Given the description of an element on the screen output the (x, y) to click on. 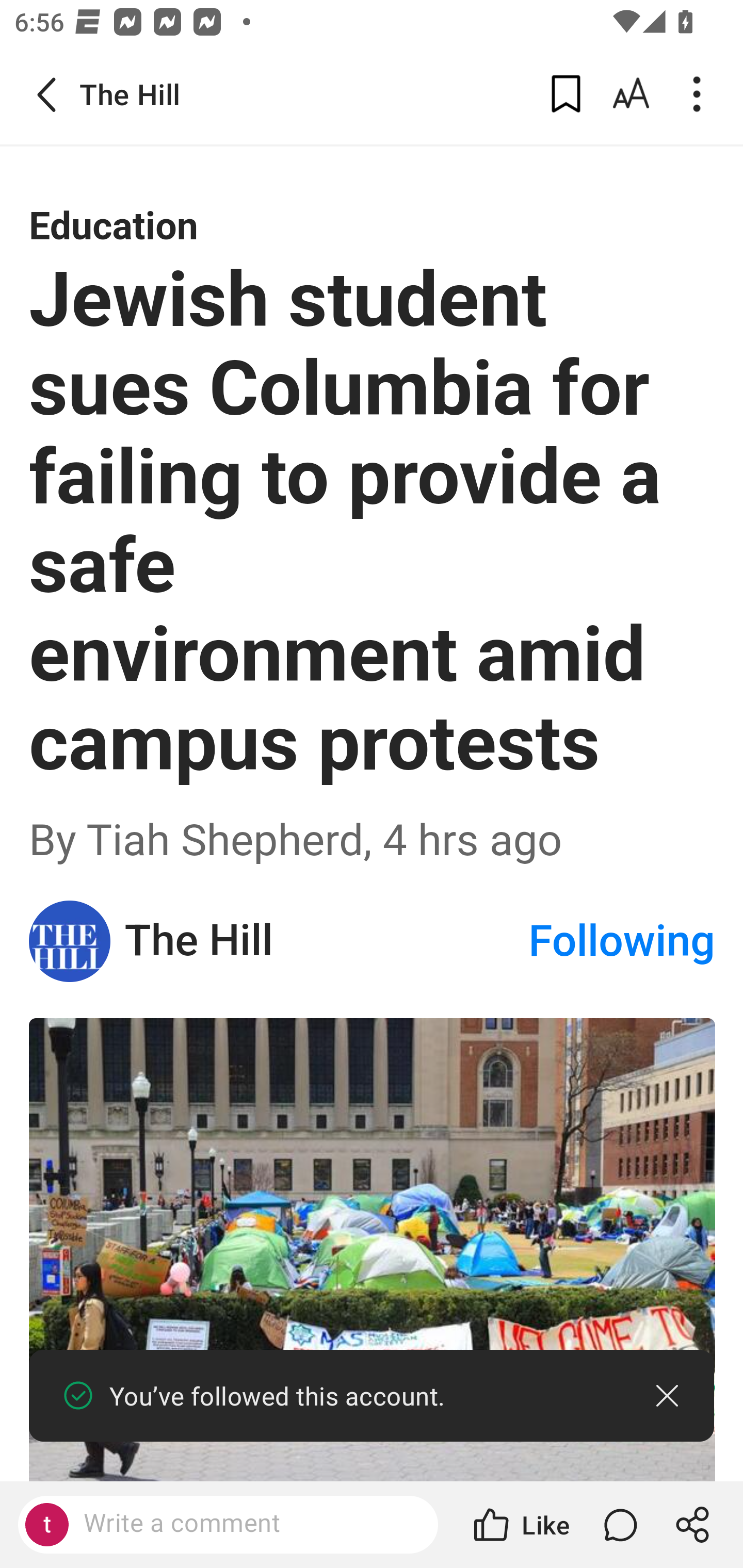
The (70, 939)
The Hill (325, 941)
Following (621, 941)
Like (519, 1524)
Write a comment (245, 1523)
